Given the description of an element on the screen output the (x, y) to click on. 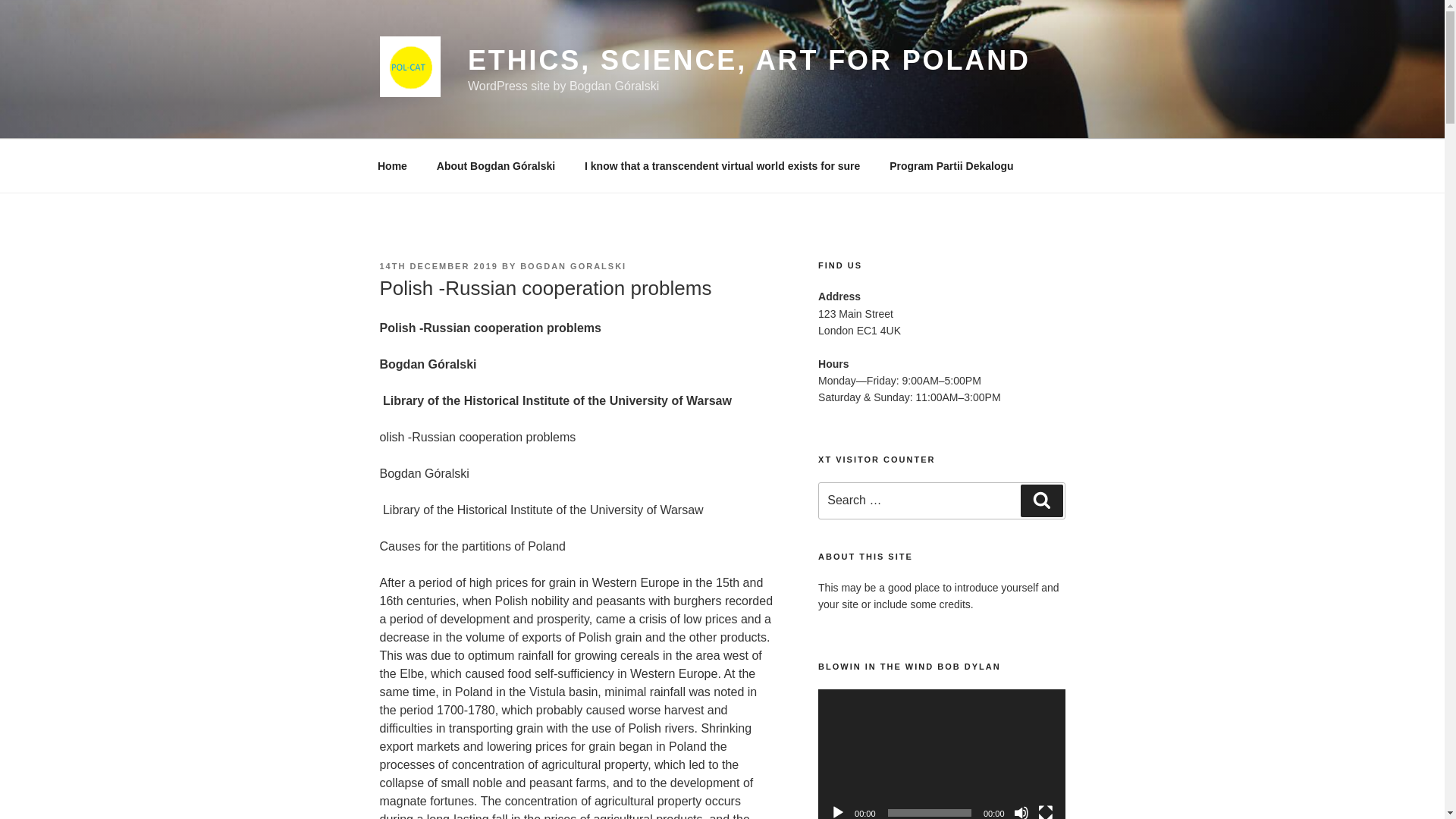
ETHICS, SCIENCE, ART FOR POLAND (748, 60)
Search (1041, 500)
Home (392, 165)
Fullscreen (1044, 812)
Program Partii Dekalogu (951, 165)
BOGDAN GORALSKI (572, 266)
Mute (1020, 812)
Play (837, 812)
14TH DECEMBER 2019 (437, 266)
I know that a transcendent virtual world exists for sure (722, 165)
